Given the description of an element on the screen output the (x, y) to click on. 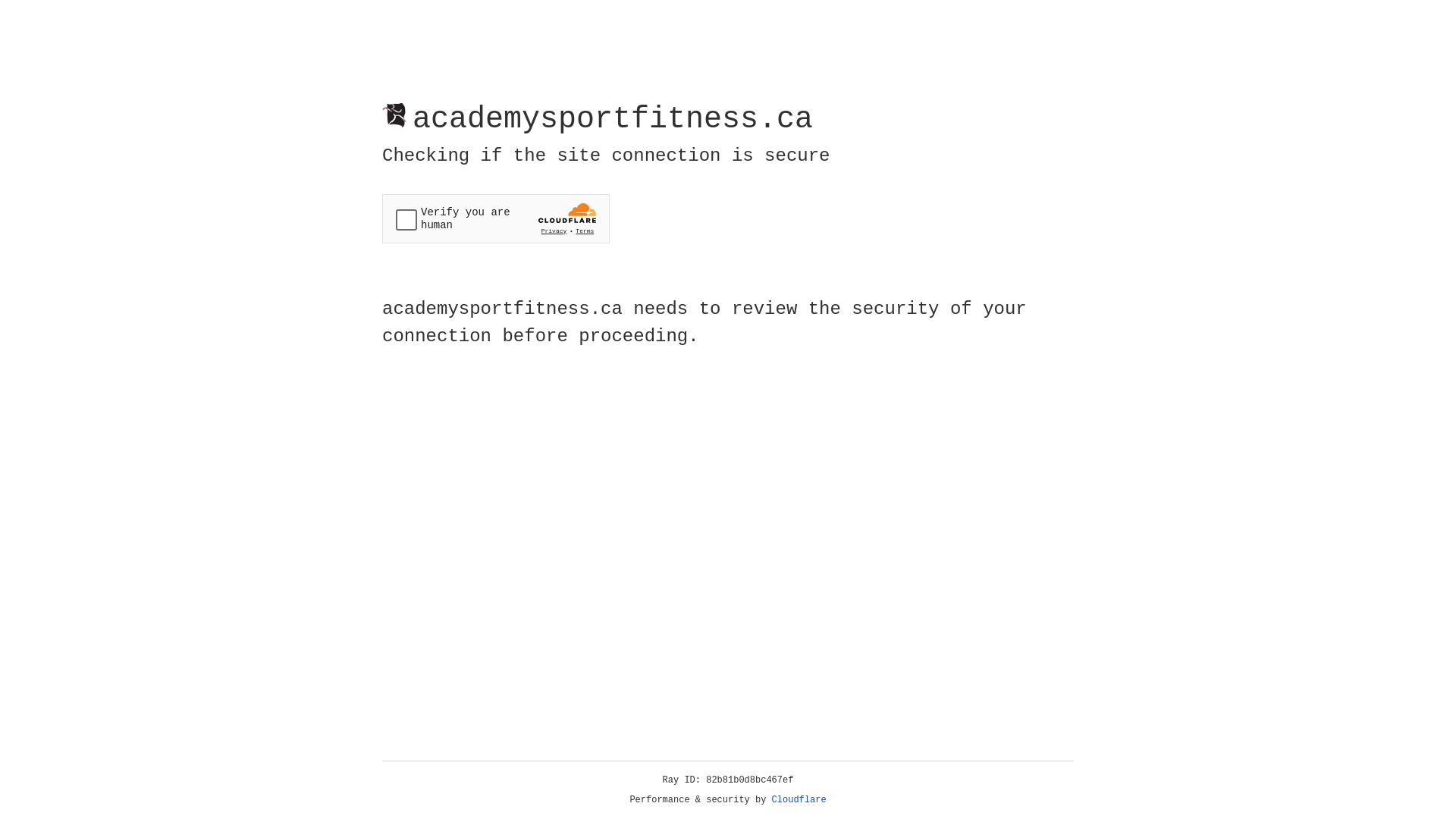
Cloudflare Element type: text (798, 799)
Widget containing a Cloudflare security challenge Element type: hover (495, 218)
